Given the description of an element on the screen output the (x, y) to click on. 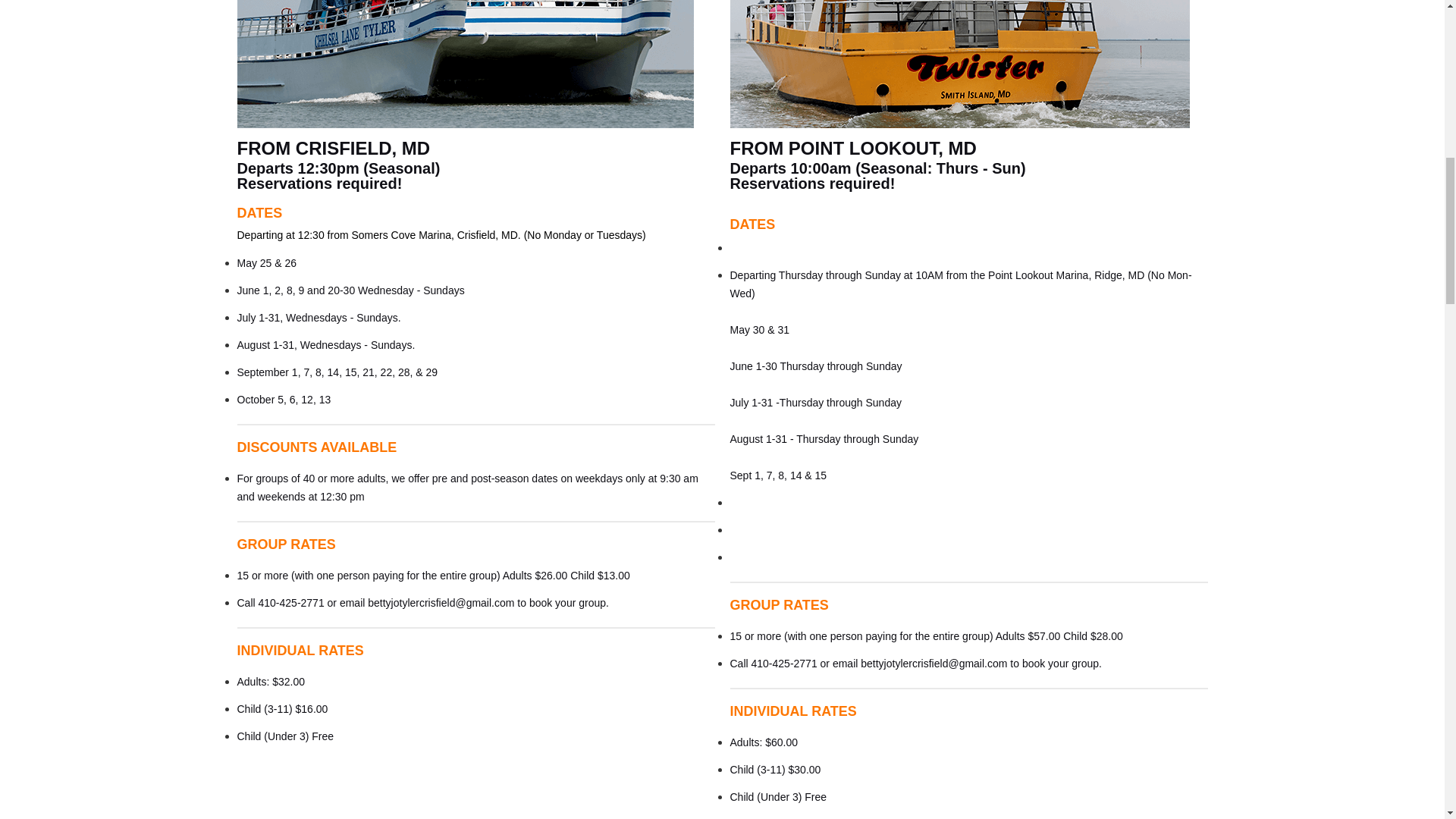
FareHarbor (1342, 64)
